Given the description of an element on the screen output the (x, y) to click on. 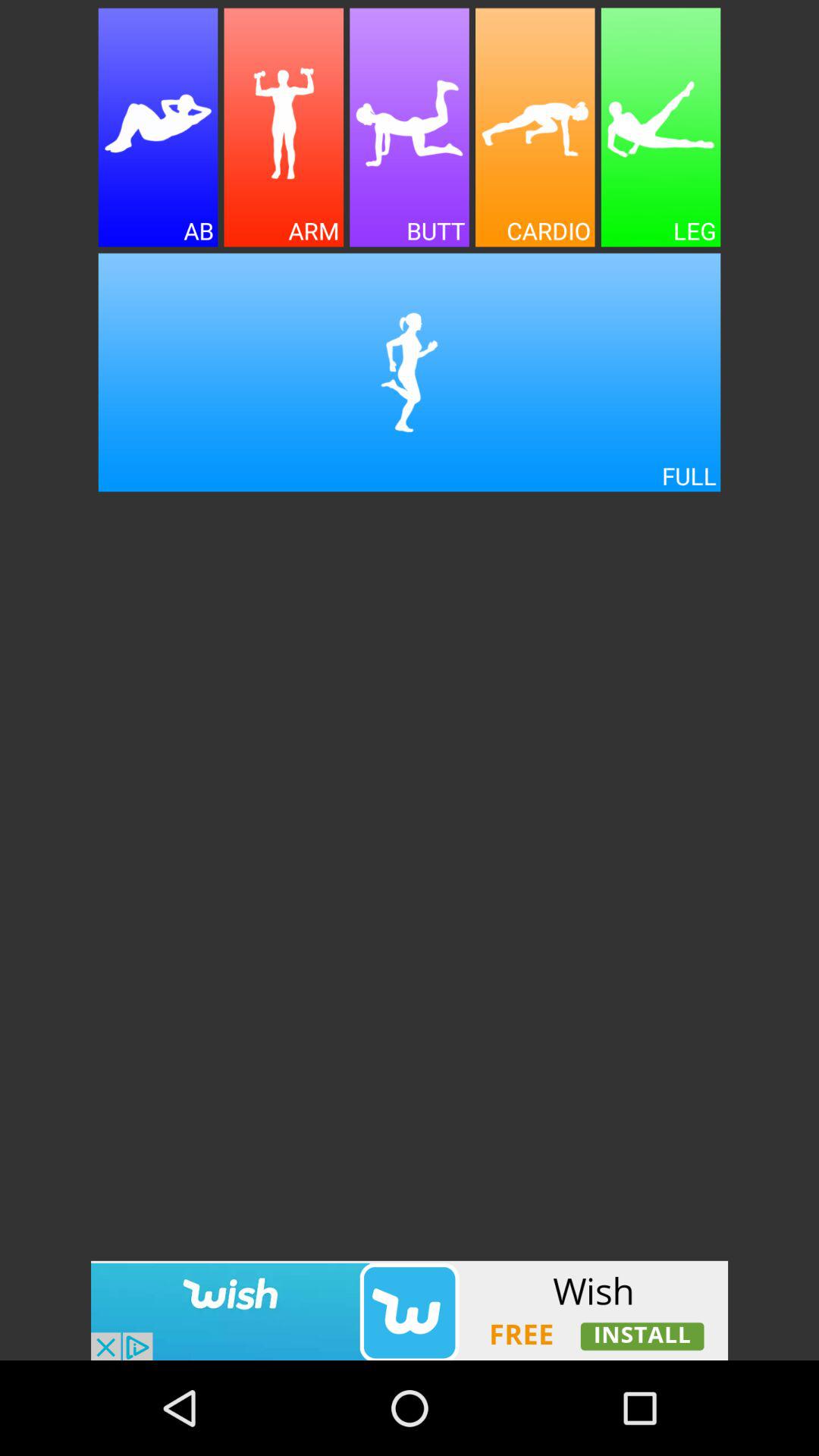
switch to butt workout (409, 126)
